Given the description of an element on the screen output the (x, y) to click on. 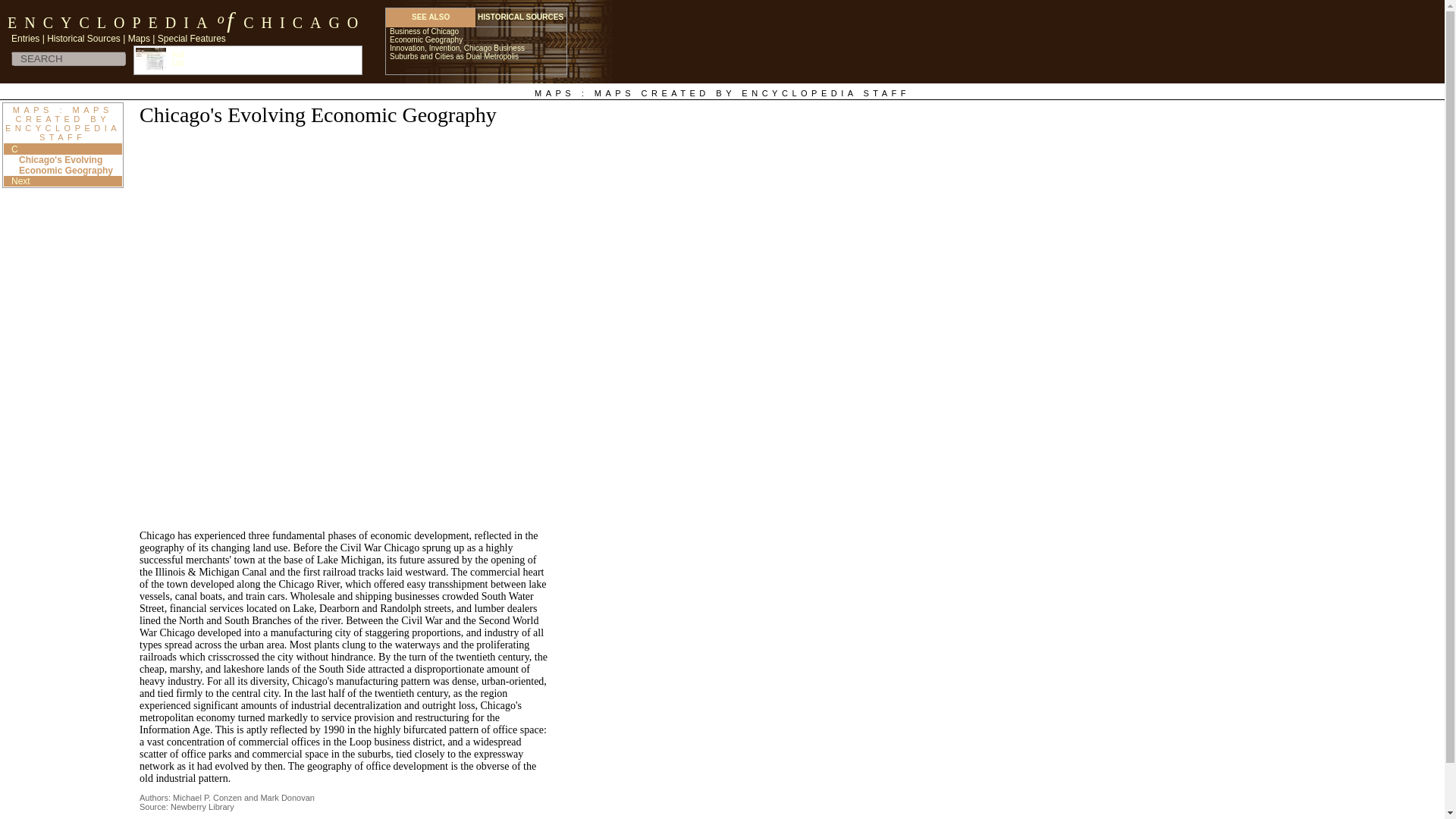
ENCYCLOPEDIA (107, 25)
Special Features (191, 37)
Historical Sources (83, 37)
SEARCH (68, 58)
SEARCH (68, 58)
Entries (25, 37)
Maps (138, 37)
CHICAGO (300, 25)
Next (20, 181)
